Given the description of an element on the screen output the (x, y) to click on. 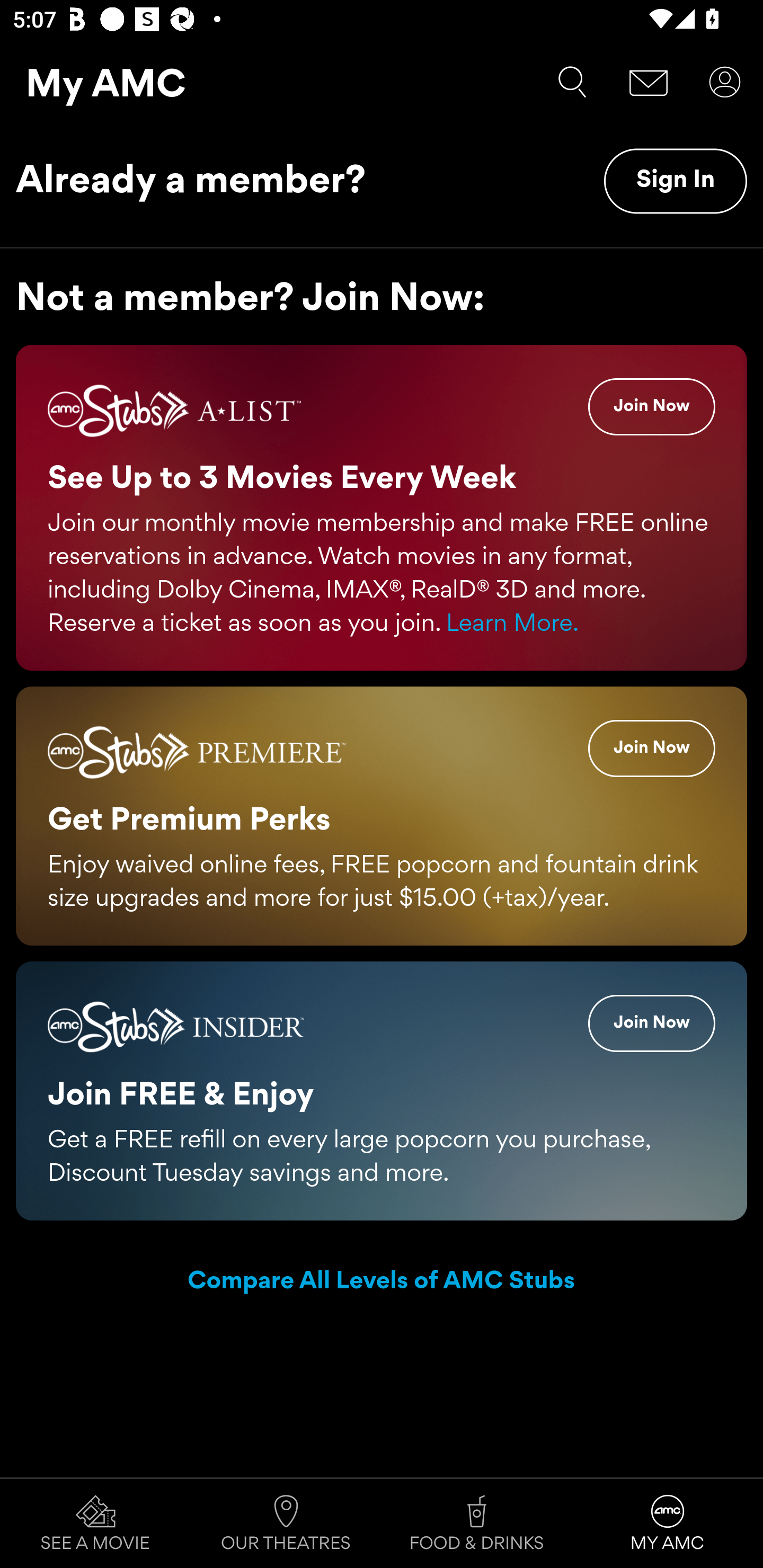
Search (572, 82)
Message Center (648, 82)
User Account (724, 82)
Sign In (675, 180)
A-List Join Now (651, 406)
Premiere Join Now (651, 748)
Insider Join Now (651, 1022)
Compare All Levels of AMC Stubs (381, 1282)
SEE A MOVIE
Tab 1 of 4 (95, 1523)
OUR THEATRES
Tab 2 of 4 (285, 1523)
FOOD & DRINKS
Tab 3 of 4 (476, 1523)
MY AMC
Tab 4 of 4 (667, 1523)
